Given the description of an element on the screen output the (x, y) to click on. 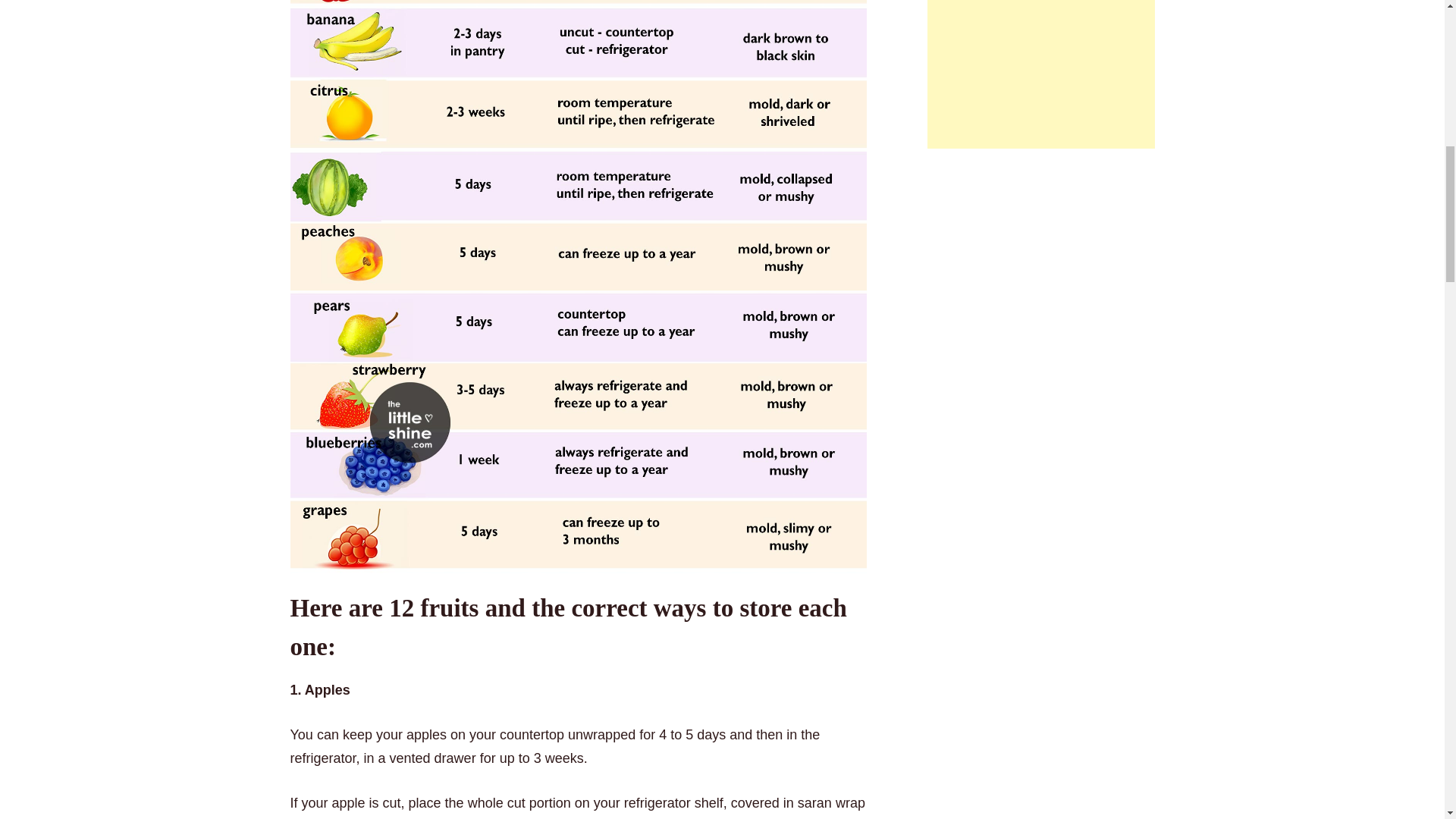
Advertisement (1040, 74)
